Given the description of an element on the screen output the (x, y) to click on. 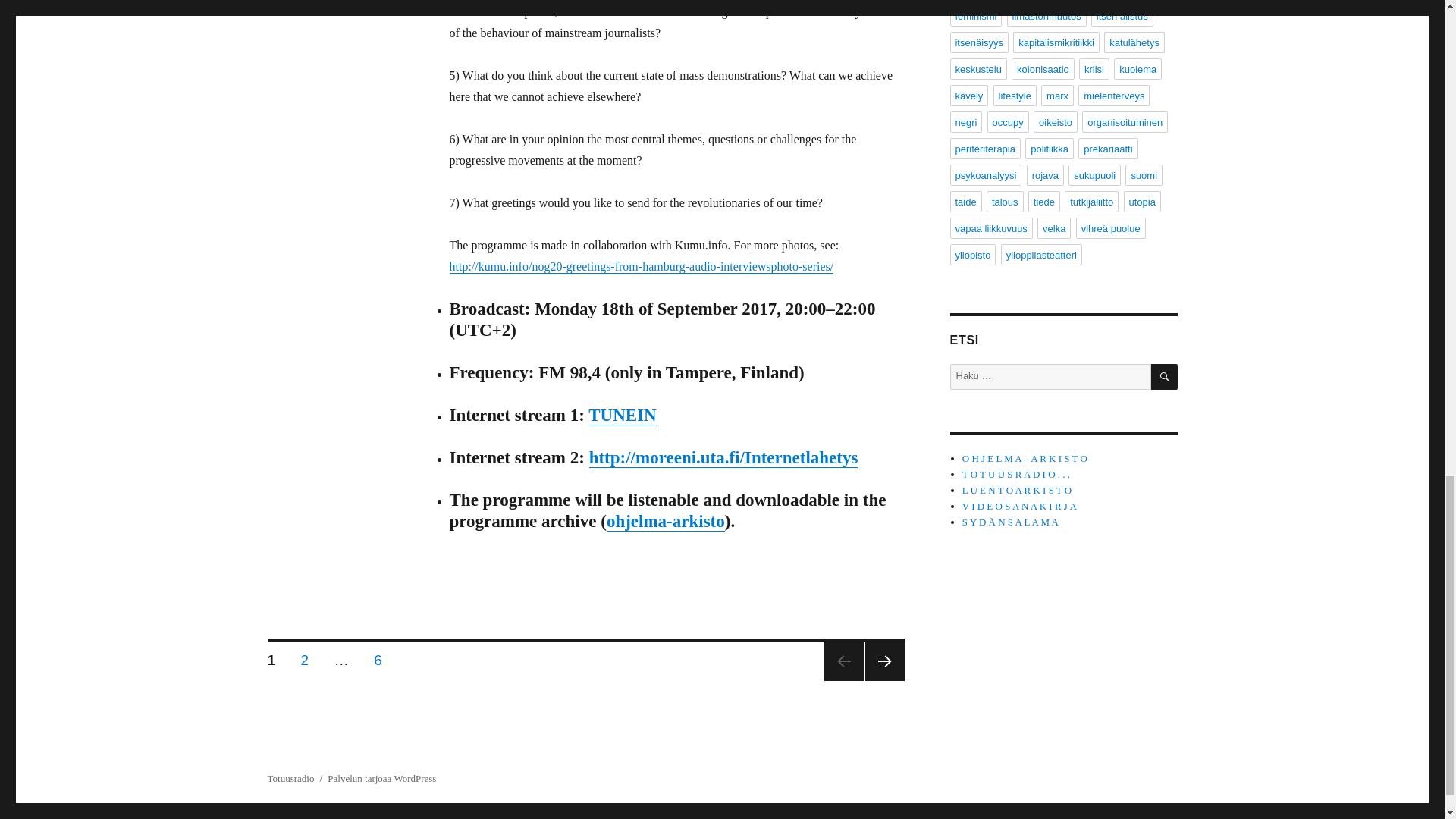
ilmastonmuutos (1046, 15)
SEURAAVA SIVU (884, 660)
ohjelma-arkisto (377, 657)
itsen alistus (666, 520)
TUNEIN (1121, 15)
feminismi (304, 657)
